Given the description of an element on the screen output the (x, y) to click on. 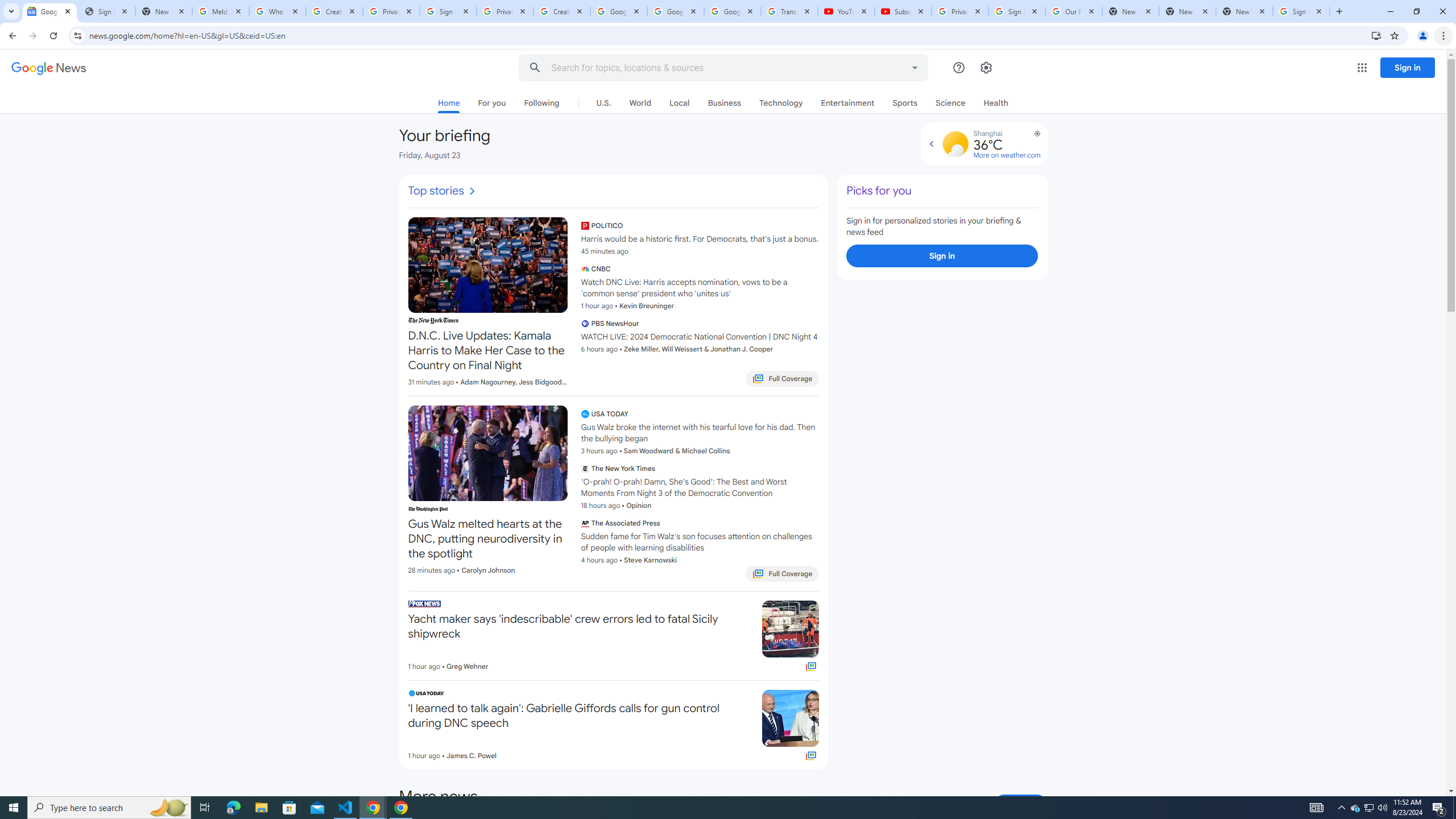
Sports (904, 102)
Help (958, 67)
Following (541, 102)
Expand to view forecast (931, 143)
AutomationID: i10 (471, 190)
Top stories (442, 190)
Home (449, 105)
